Given the description of an element on the screen output the (x, y) to click on. 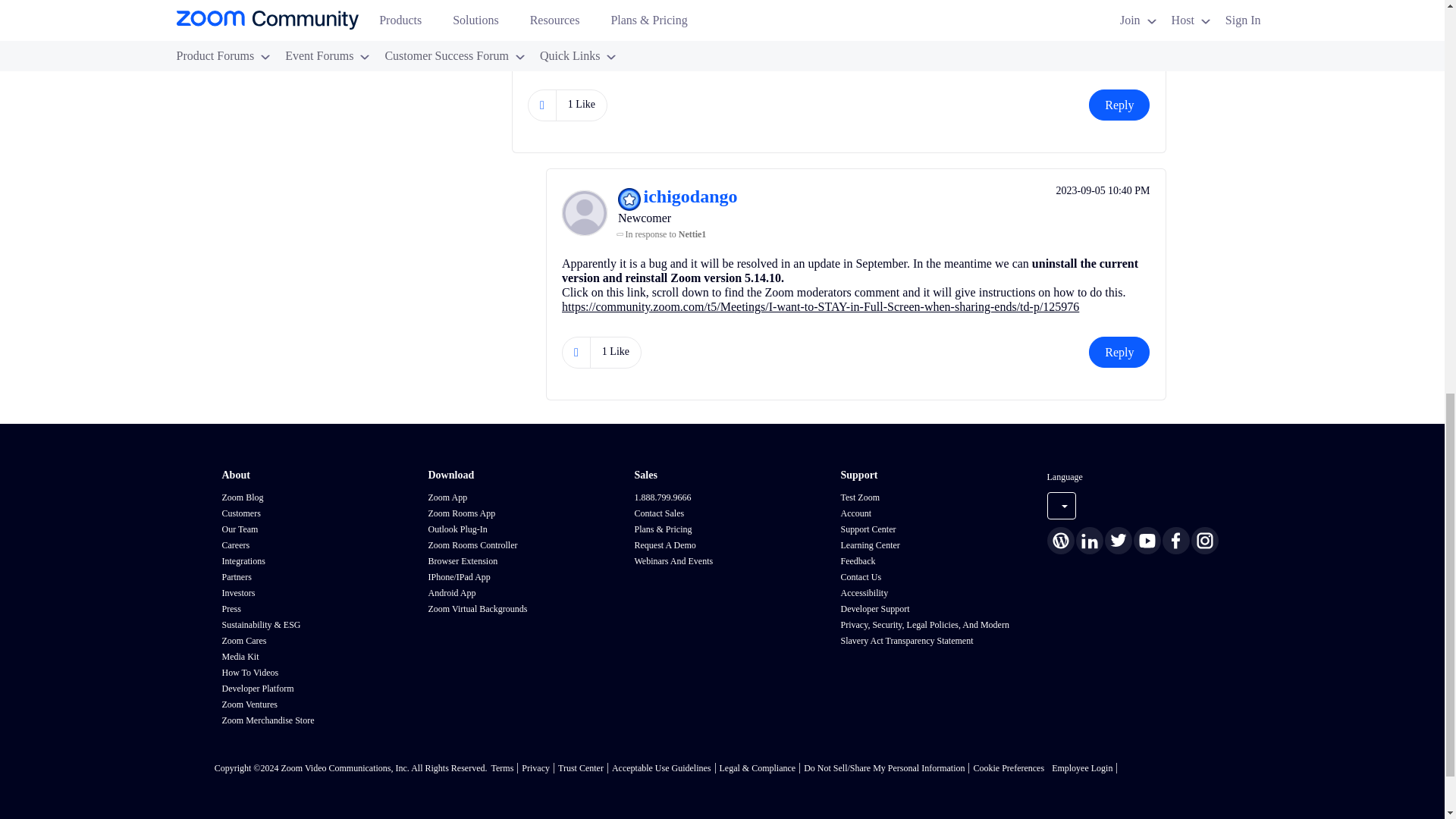
Click here to give likes to this post. (542, 104)
Newcomer (595, 2)
Nettie1 (550, 11)
Click here to see who gave likes to this post. (581, 104)
